Given the description of an element on the screen output the (x, y) to click on. 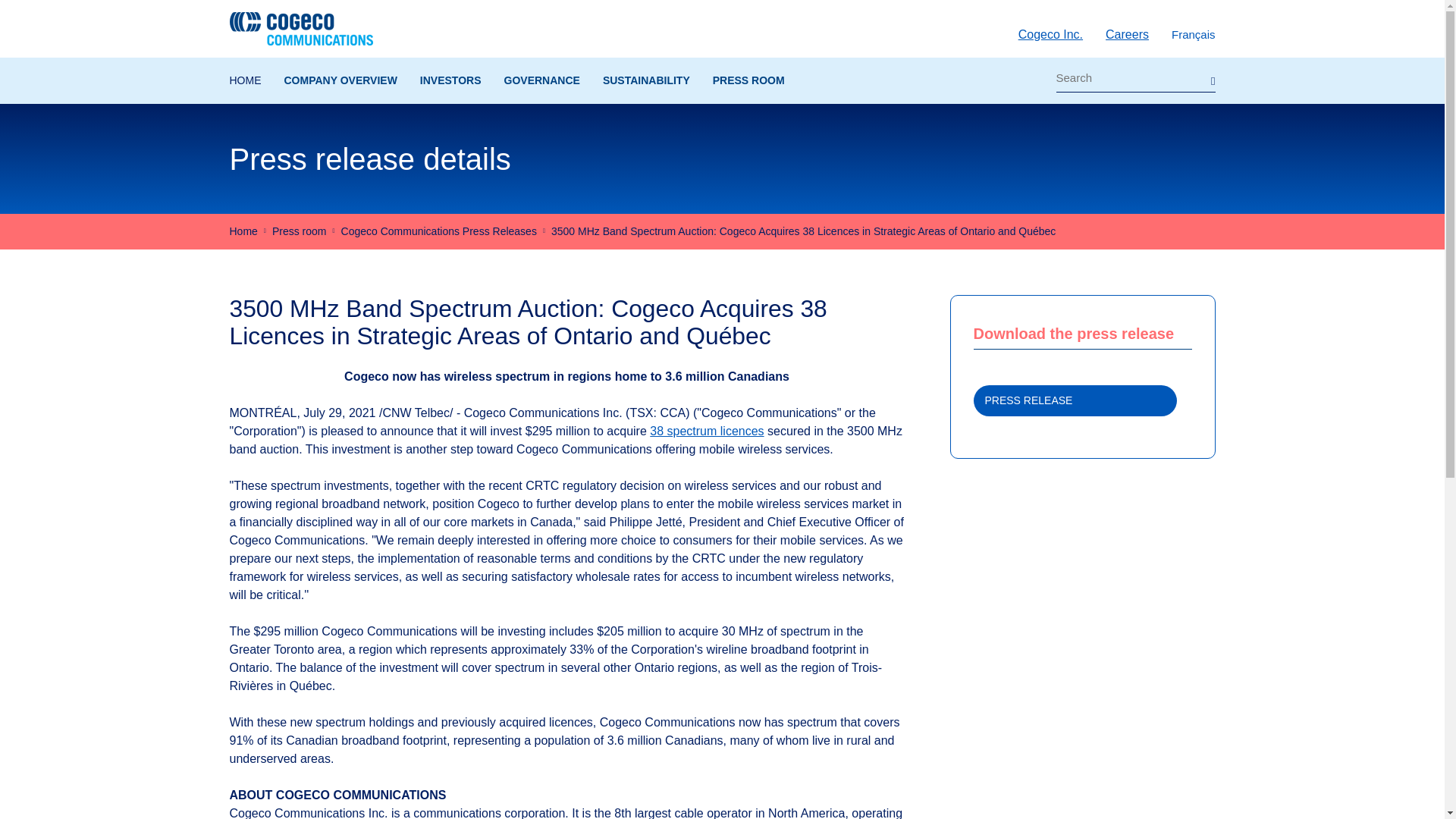
Careers (1126, 33)
Home (242, 231)
PRESS RELEASE (1083, 400)
Cogeco Inc. (1050, 33)
Cogeco Communications Press Releases (438, 231)
Cogeco Communications (300, 28)
38 spectrum licences (705, 431)
French (1193, 34)
